Given the description of an element on the screen output the (x, y) to click on. 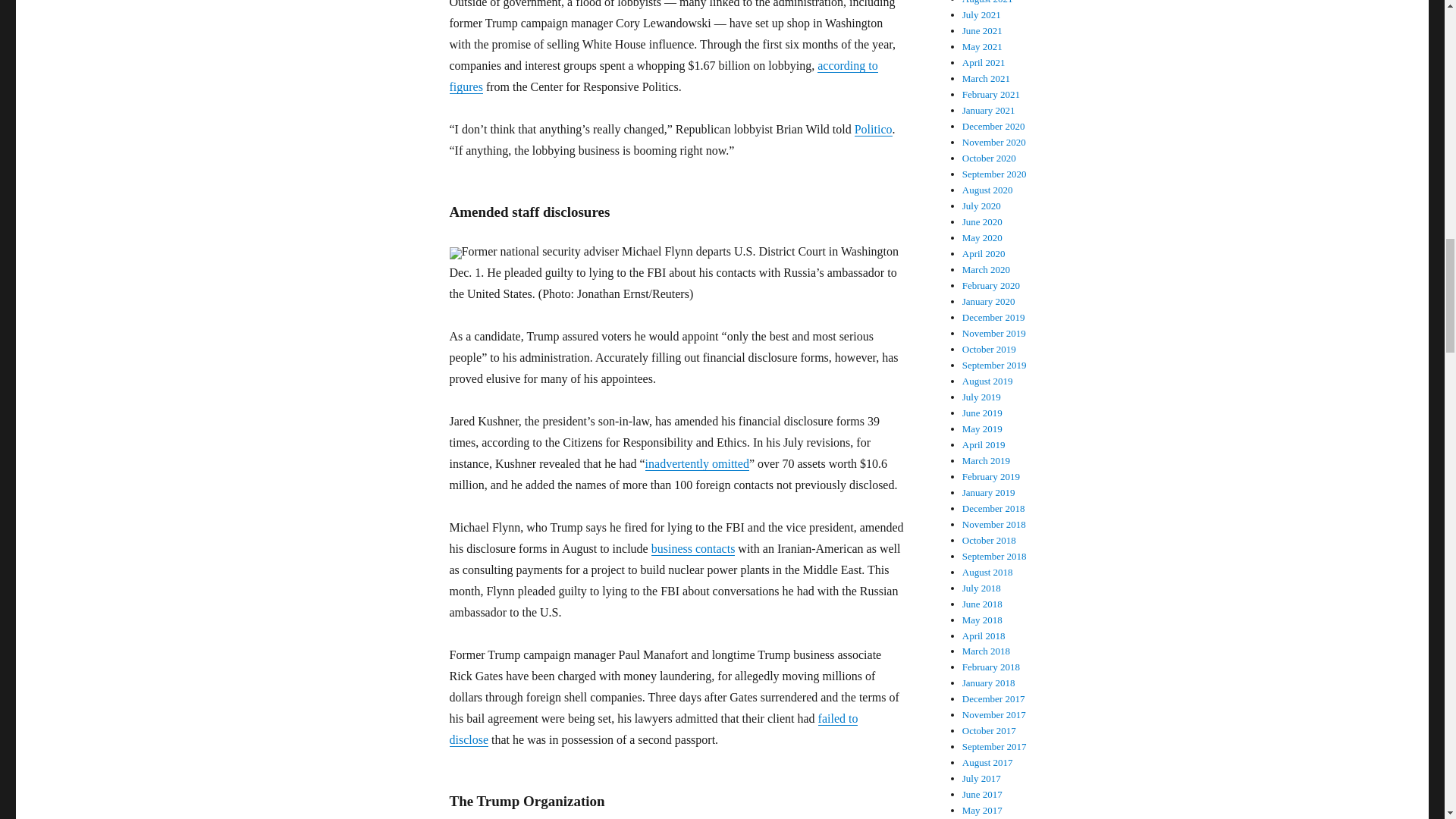
business contacts (692, 548)
failed to disclose (652, 728)
inadvertently omitted (697, 463)
Politico (873, 128)
according to figures (662, 75)
